Given the description of an element on the screen output the (x, y) to click on. 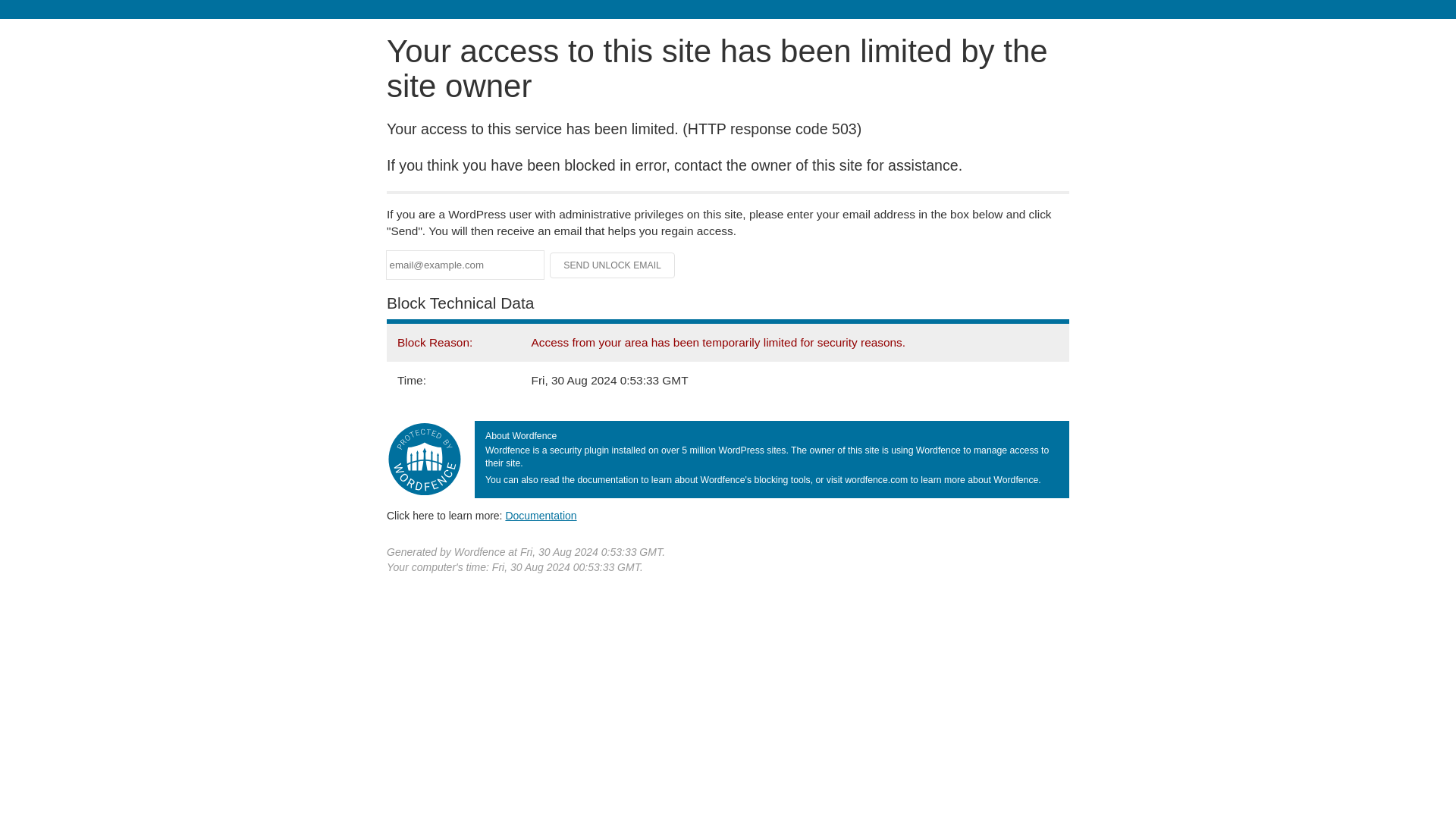
Send Unlock Email (612, 265)
Send Unlock Email (612, 265)
Documentation (540, 515)
